Given the description of an element on the screen output the (x, y) to click on. 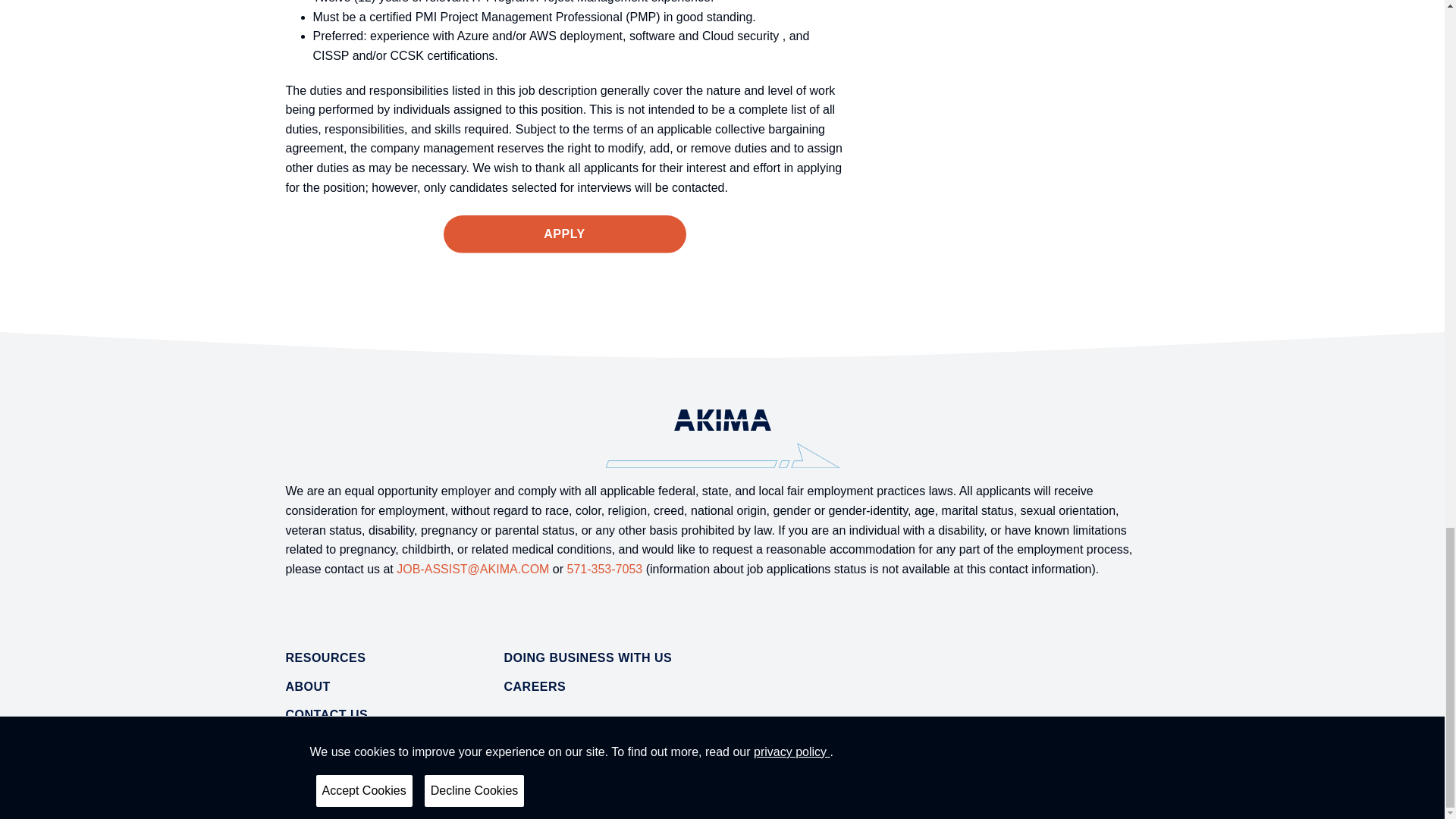
CONTACT US (326, 714)
571-353-7053 (605, 568)
APPLY (563, 234)
DOING BUSINESS WITH US (587, 657)
Privacy Policy (317, 796)
CAREERS (534, 686)
RESOURCES (325, 657)
ABOUT (307, 686)
